Given the description of an element on the screen output the (x, y) to click on. 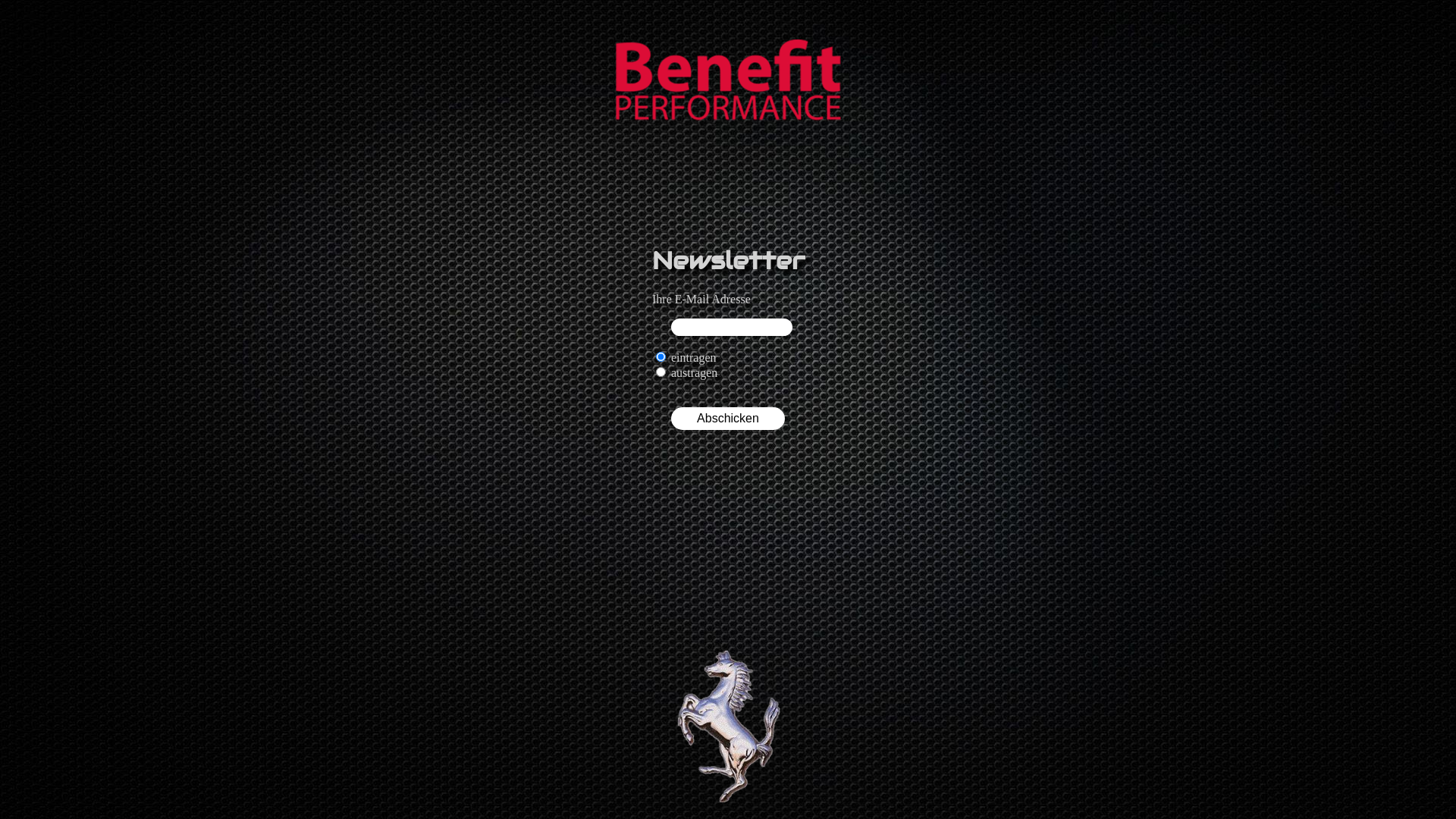
Abschicken Element type: text (727, 418)
